Given the description of an element on the screen output the (x, y) to click on. 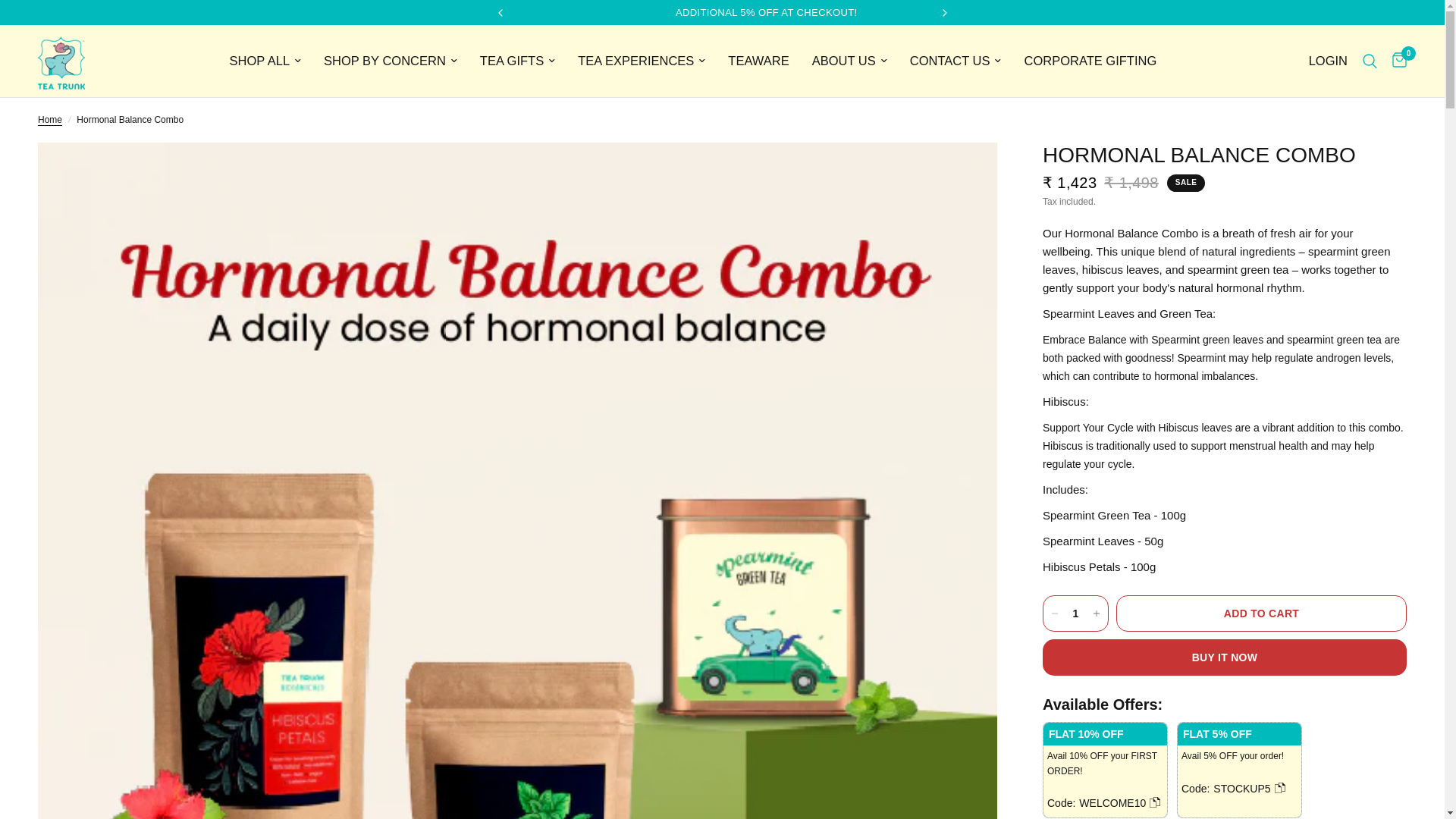
1 (1074, 613)
